Given the description of an element on the screen output the (x, y) to click on. 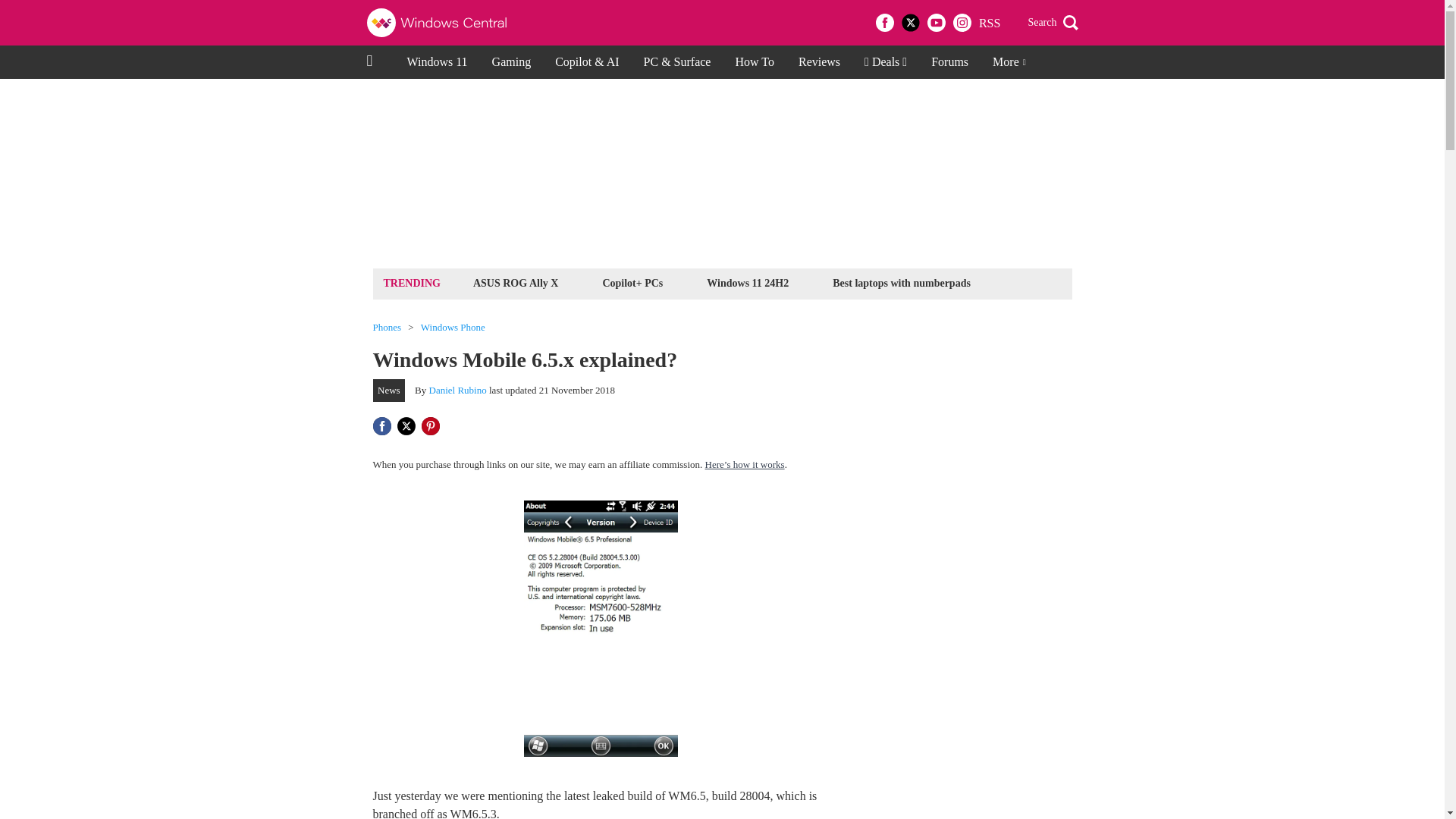
Best laptops with numberpads (901, 282)
Reviews (818, 61)
Daniel Rubino (457, 389)
RSS (989, 22)
Windows Phone (452, 327)
Gaming (511, 61)
ASUS ROG Ally X (515, 282)
Windows 11 (436, 61)
News (389, 390)
Phones (386, 327)
How To (754, 61)
Forums (948, 61)
Windows 11 24H2 (747, 282)
